Given the description of an element on the screen output the (x, y) to click on. 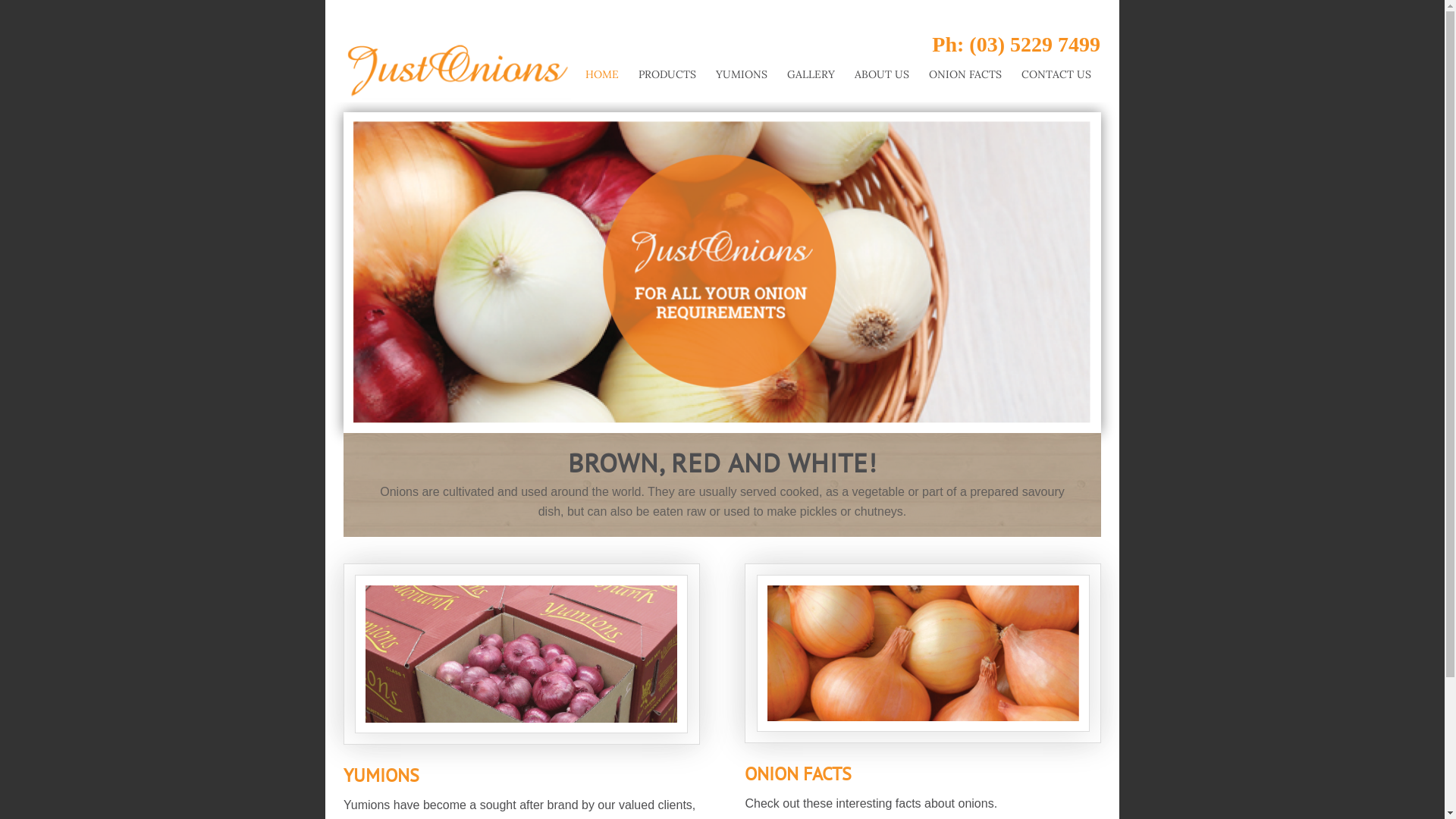
GALLERY Element type: text (810, 66)
CONTACT US Element type: text (1056, 66)
ONION FACTS Element type: text (965, 66)
ABOUT US Element type: text (881, 66)
ONION FACTS Element type: text (797, 773)
YUMIONS Element type: text (741, 66)
HOME Element type: text (601, 66)
(03) 5229 7499 Element type: text (1034, 44)
slim-onions Element type: hover (922, 652)
slim-onions Element type: hover (520, 653)
home-banner Element type: hover (722, 272)
PRODUCTS Element type: text (667, 66)
YUMIONS Element type: text (381, 775)
